Given the description of an element on the screen output the (x, y) to click on. 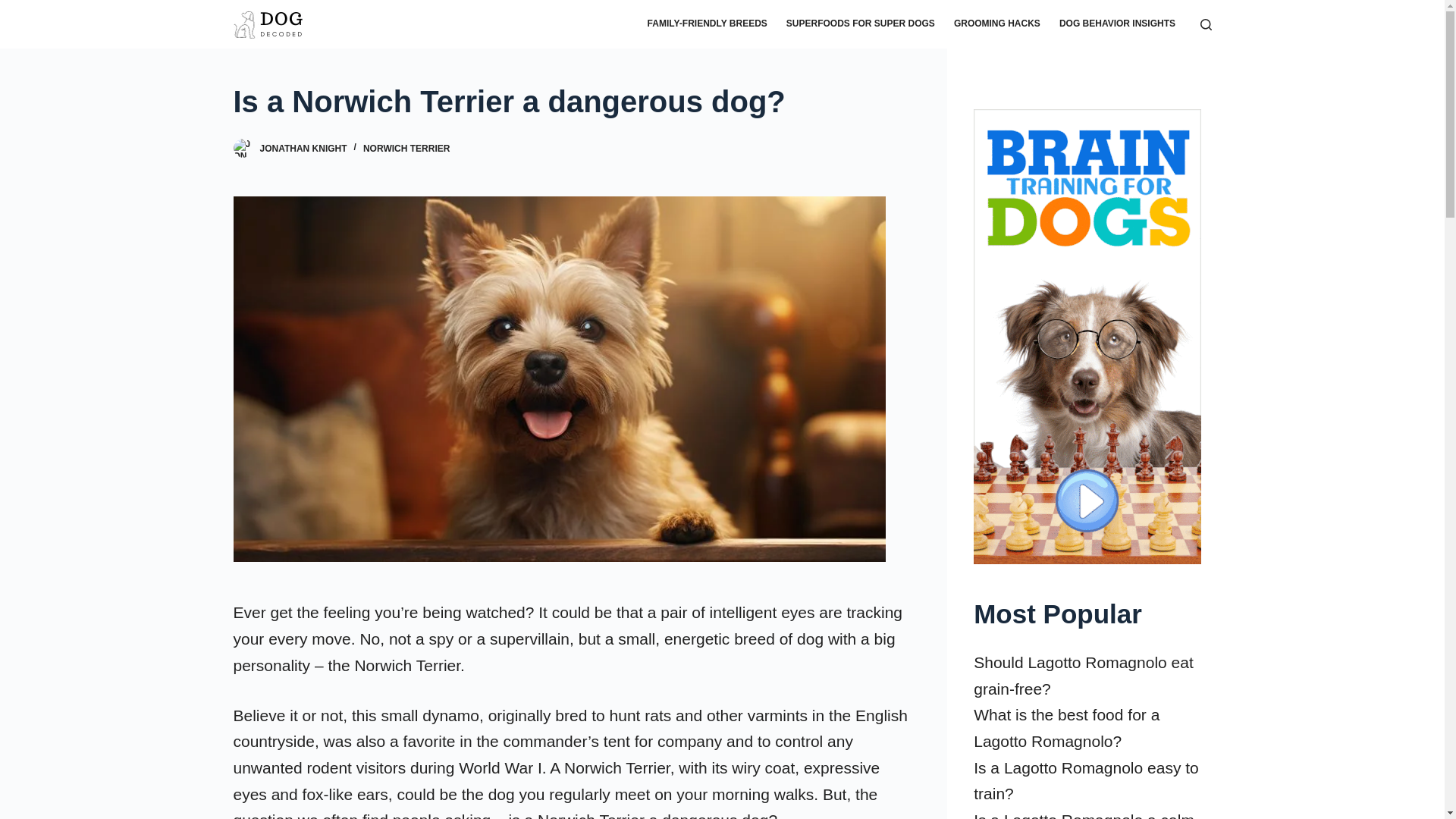
GROOMING HACKS (996, 24)
What is the best food for a Lagotto Romagnolo? (1066, 727)
DOG BEHAVIOR INSIGHTS (1117, 24)
NORWICH TERRIER (405, 148)
Is a Norwich Terrier a dangerous dog? (570, 101)
Is a Lagotto Romagnolo easy to train? (1086, 781)
SUPERFOODS FOR SUPER DOGS (859, 24)
Skip to content (15, 7)
Posts by Jonathan Knight (302, 148)
JONATHAN KNIGHT (302, 148)
FAMILY-FRIENDLY BREEDS (706, 24)
Is a Lagotto Romagnolo a calm dog? (1083, 815)
Should Lagotto Romagnolo eat grain-free? (1083, 675)
